Given the description of an element on the screen output the (x, y) to click on. 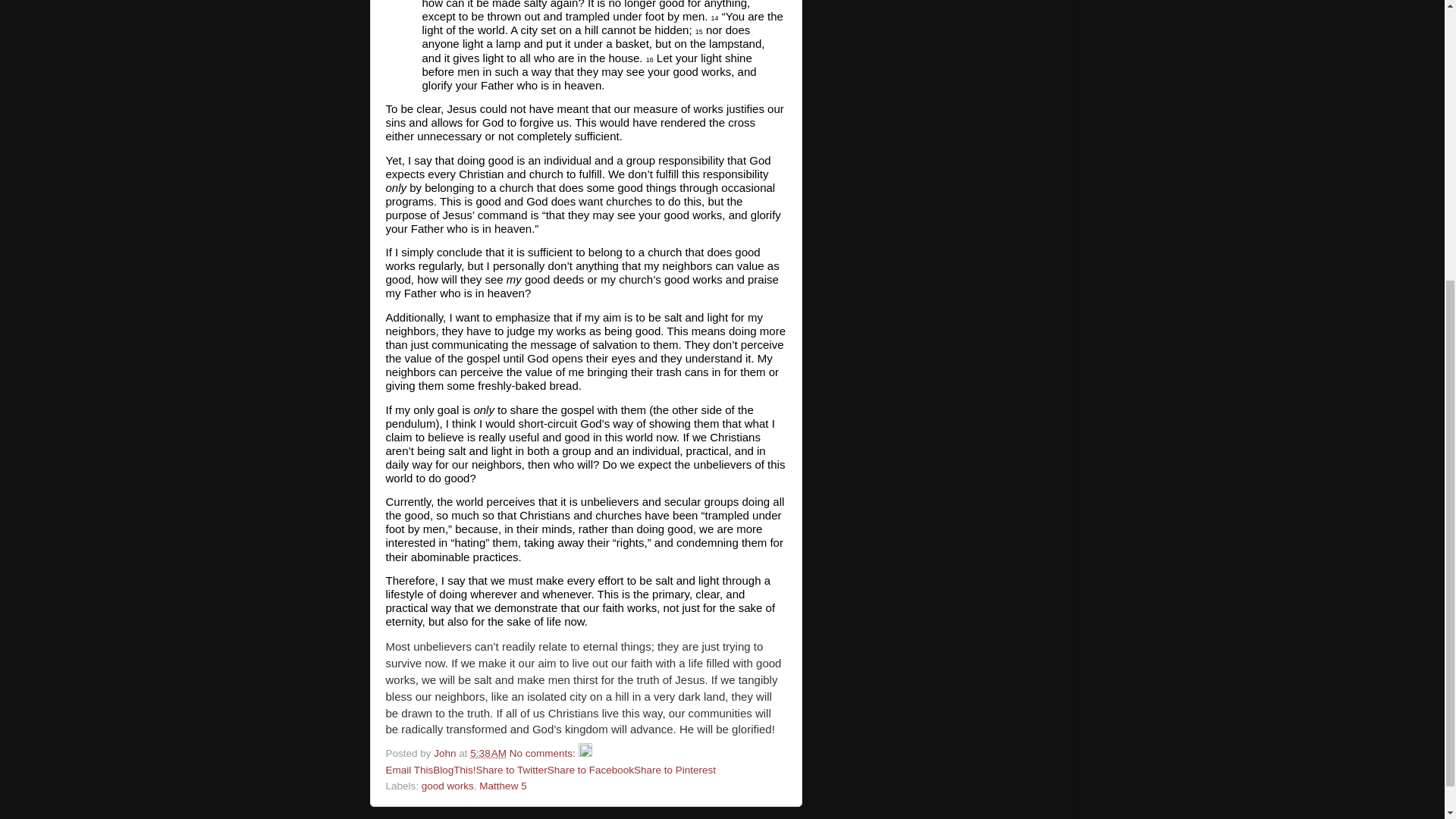
permanent link (488, 753)
BlogThis! (454, 769)
Share to Twitter (511, 769)
Matthew 5 (502, 785)
Share to Facebook (590, 769)
Share to Pinterest (674, 769)
BlogThis! (454, 769)
No comments: (543, 753)
Share to Pinterest (674, 769)
